Given the description of an element on the screen output the (x, y) to click on. 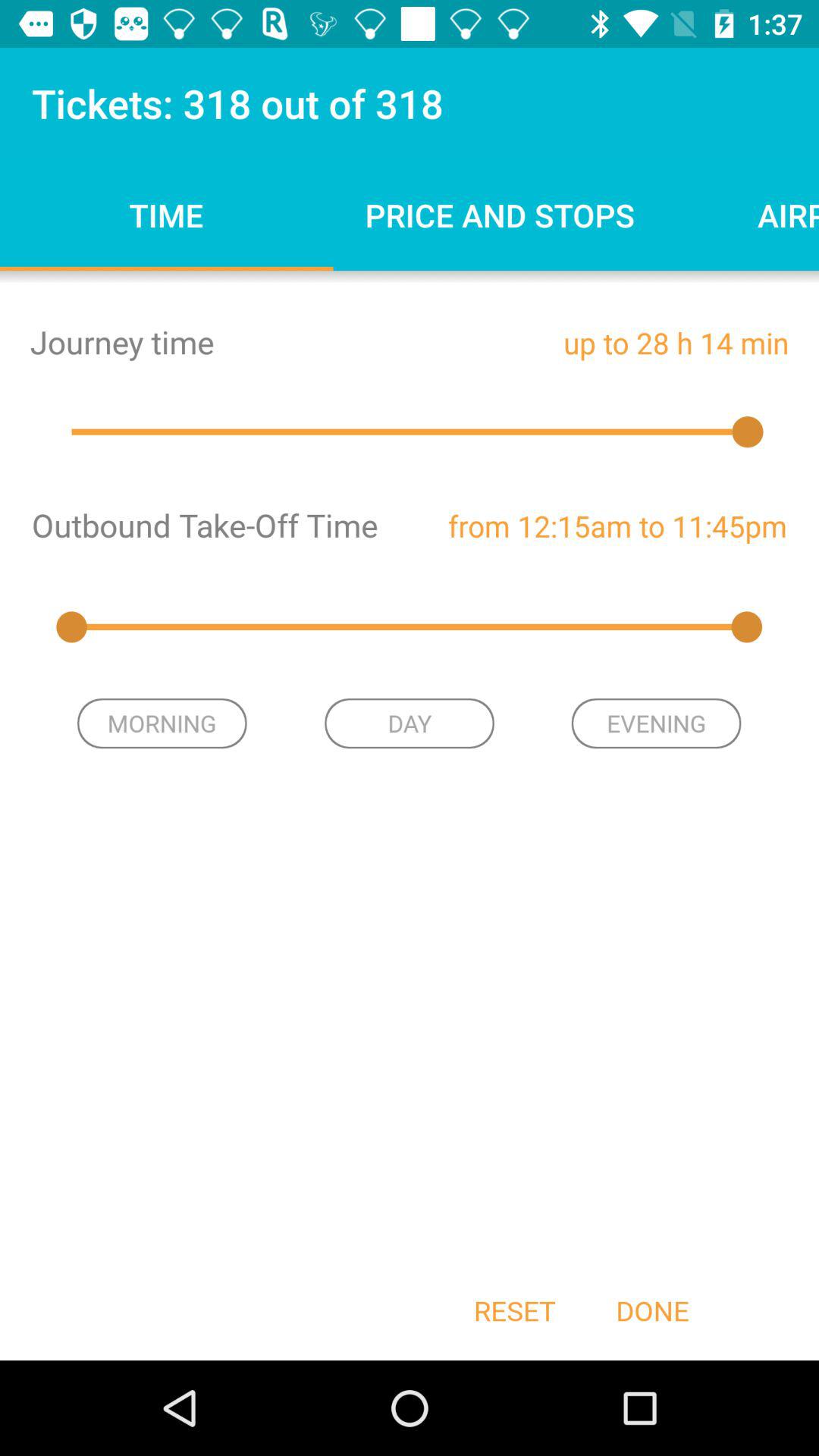
open the icon to the right of reset icon (652, 1310)
